Given the description of an element on the screen output the (x, y) to click on. 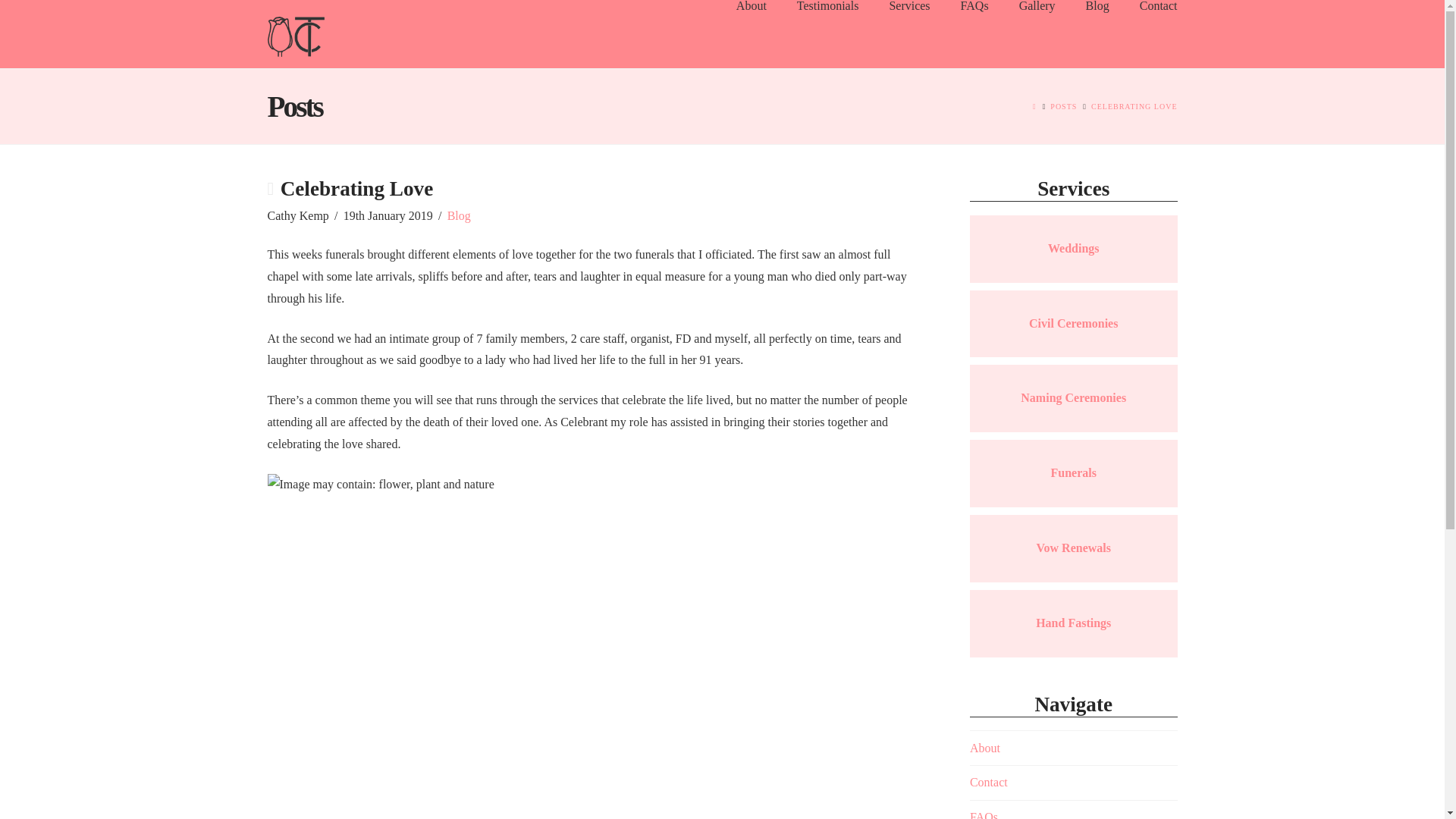
About (750, 33)
Click to find out more about civil ceremonies (1073, 323)
Weddings (1073, 247)
Click to find out more about hand fastings (1072, 622)
Civil Ceremonies (1073, 323)
Click to find out more about vow renewals (1072, 547)
Vow Renewals (1072, 547)
Services (908, 33)
Naming Ceremonies (1072, 397)
Funerals (1072, 472)
